Given the description of an element on the screen output the (x, y) to click on. 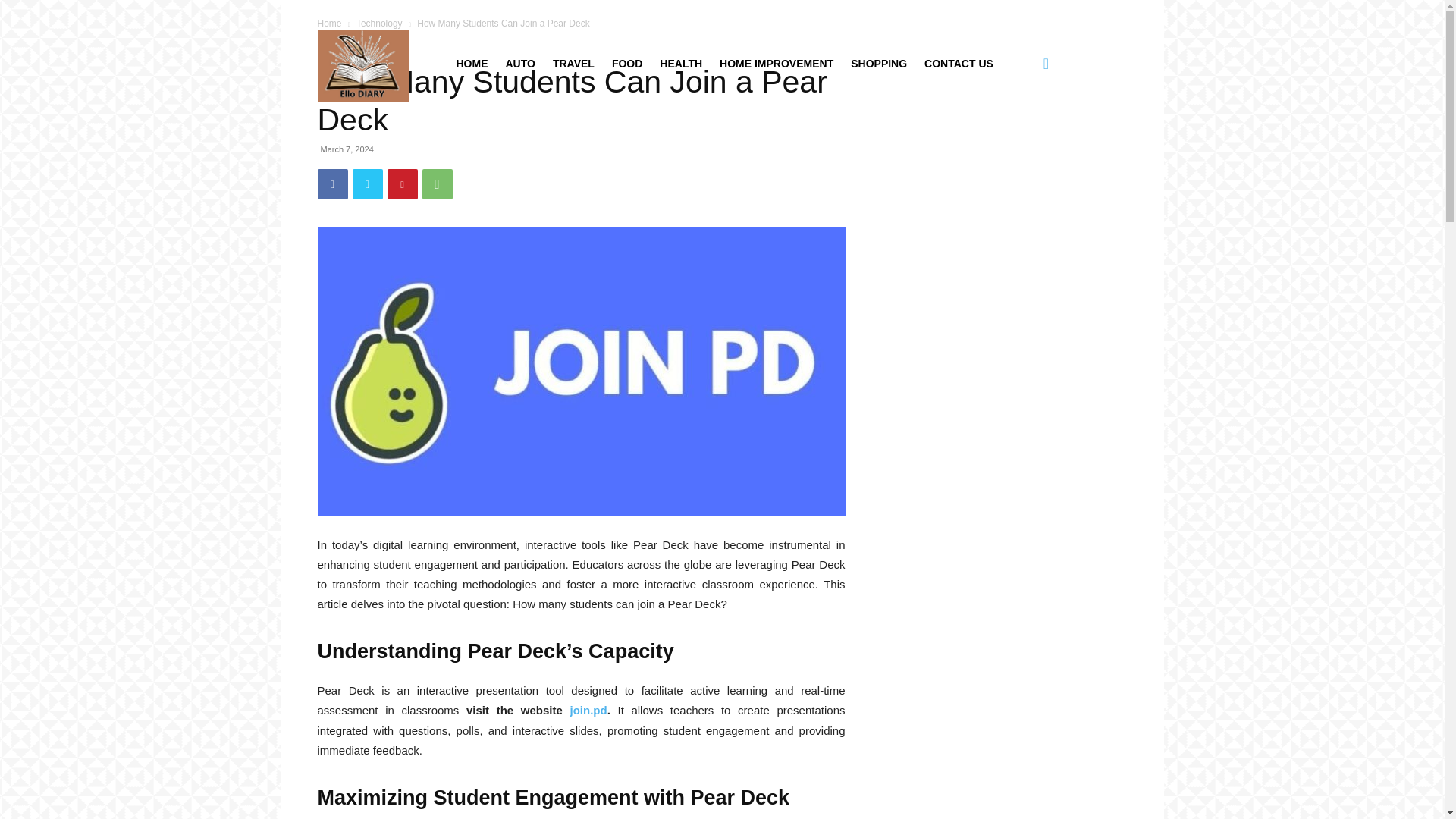
Pinterest (401, 183)
join.pd (588, 709)
CONTACT US (959, 63)
FOOD (626, 63)
HEALTH (681, 63)
View all posts in Technology (379, 23)
Technology (379, 23)
Facebook (332, 183)
Technology (341, 44)
SHOPPING (878, 63)
HOME IMPROVEMENT (776, 63)
Twitter (366, 183)
AUTO (519, 63)
TRAVEL (573, 63)
